Given the description of an element on the screen output the (x, y) to click on. 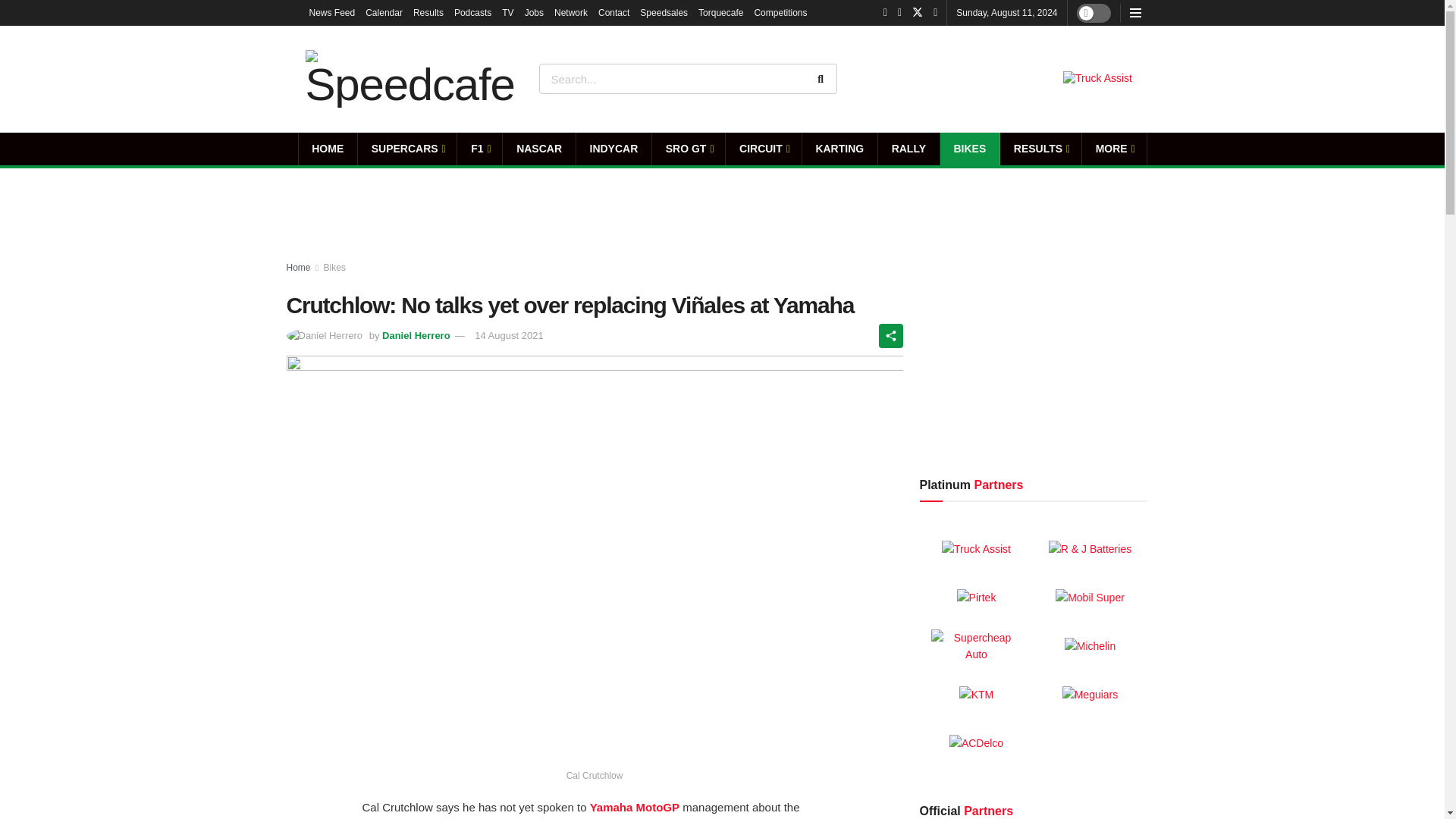
HOME (327, 148)
Podcasts (473, 12)
Calendar (384, 12)
Truck Assist (1097, 78)
News Feed (331, 12)
SUPERCARS (407, 148)
Results (428, 12)
Network (571, 12)
Contact (613, 12)
Competitions (780, 12)
